Given the description of an element on the screen output the (x, y) to click on. 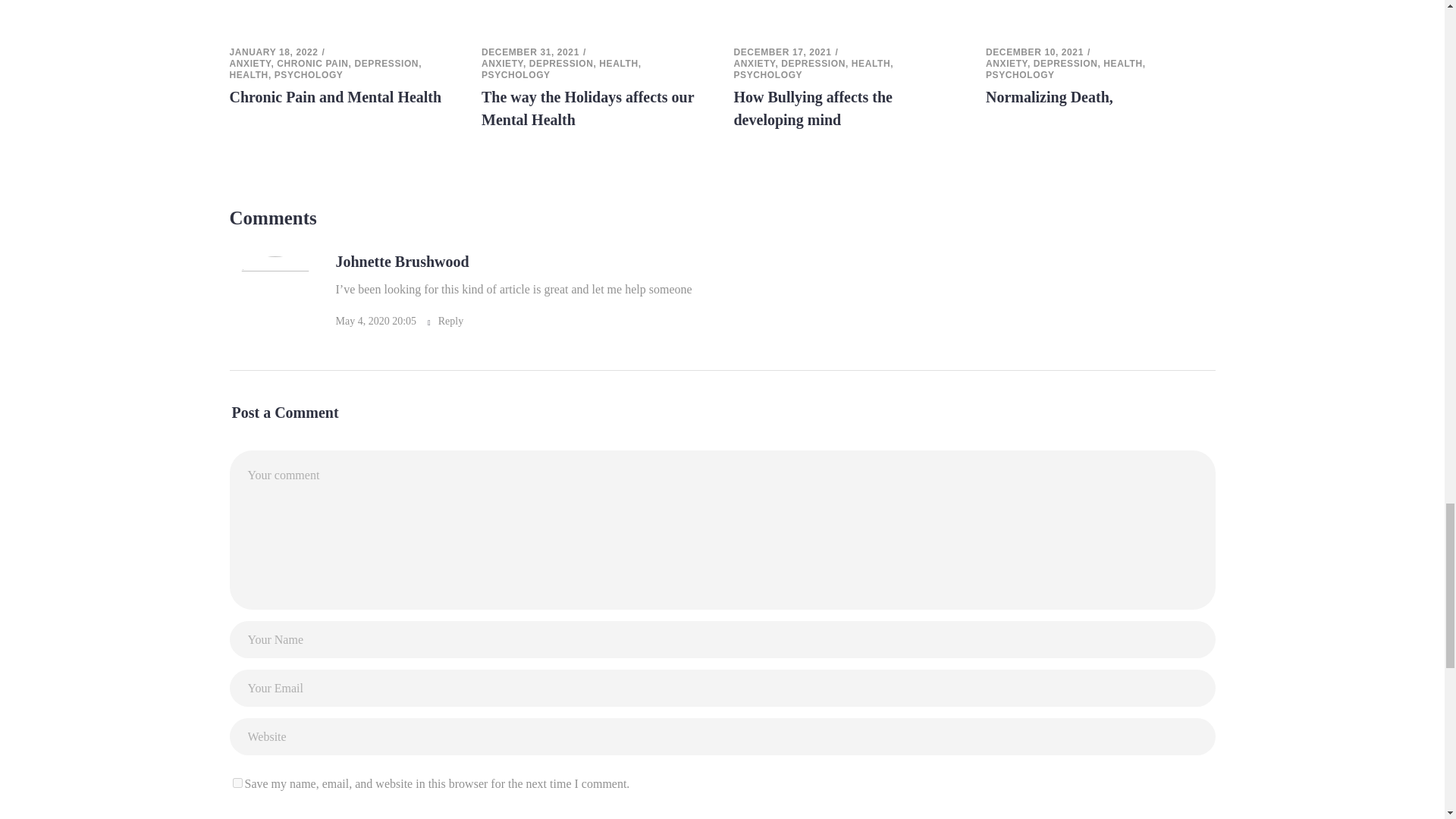
The way the Holidays affects our Mental Health (587, 107)
How Bullying affects the developing mind (848, 17)
Normalizing Death, (1049, 96)
Chronic Pain and Mental Health (334, 96)
The way the Holidays affects our Mental Health (596, 17)
How Bullying affects the developing mind (812, 107)
Chronic Pain and Mental Health (343, 17)
yes (236, 782)
Normalizing Death, (1100, 17)
